Given the description of an element on the screen output the (x, y) to click on. 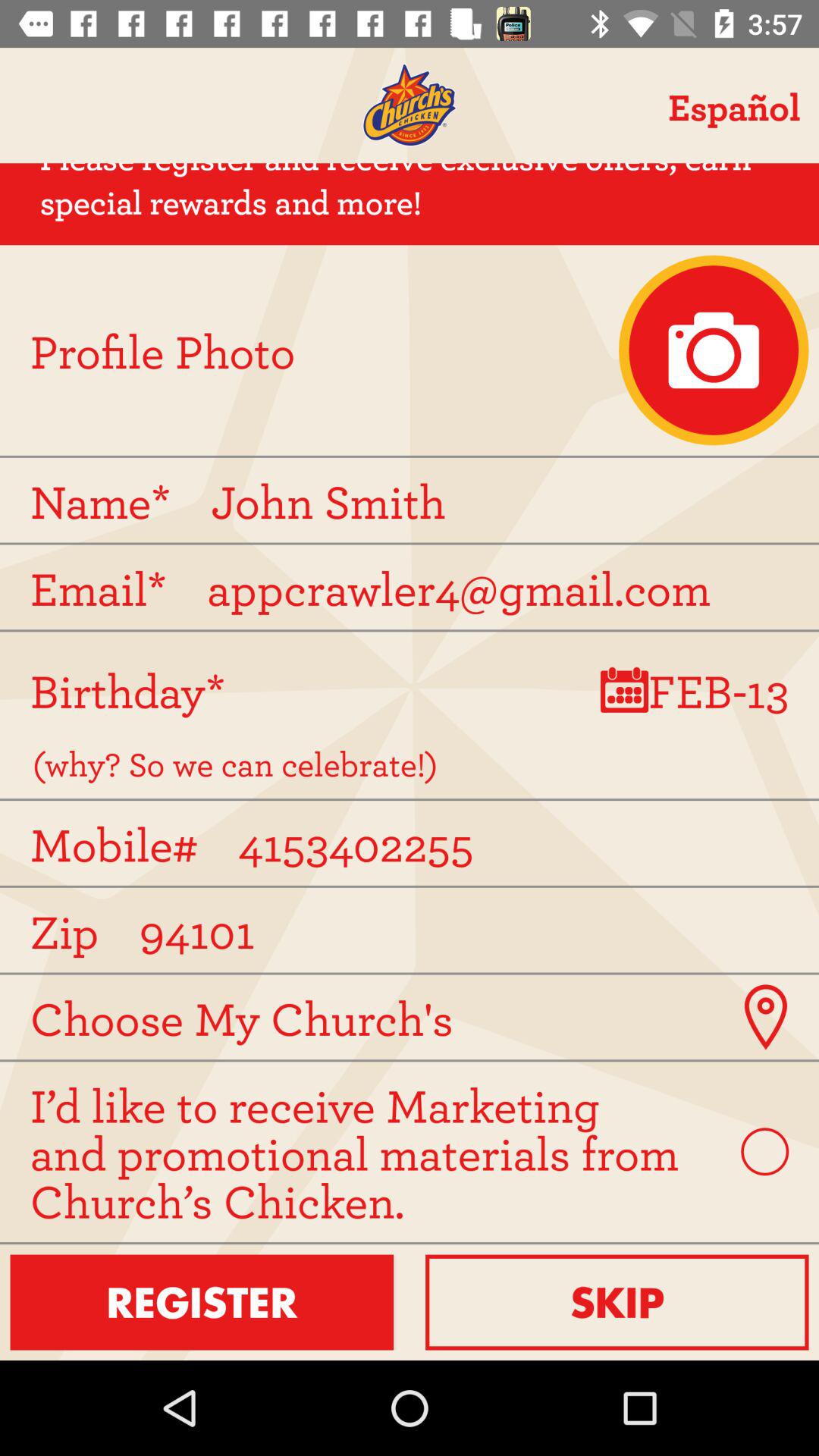
homepage (409, 104)
